Given the description of an element on the screen output the (x, y) to click on. 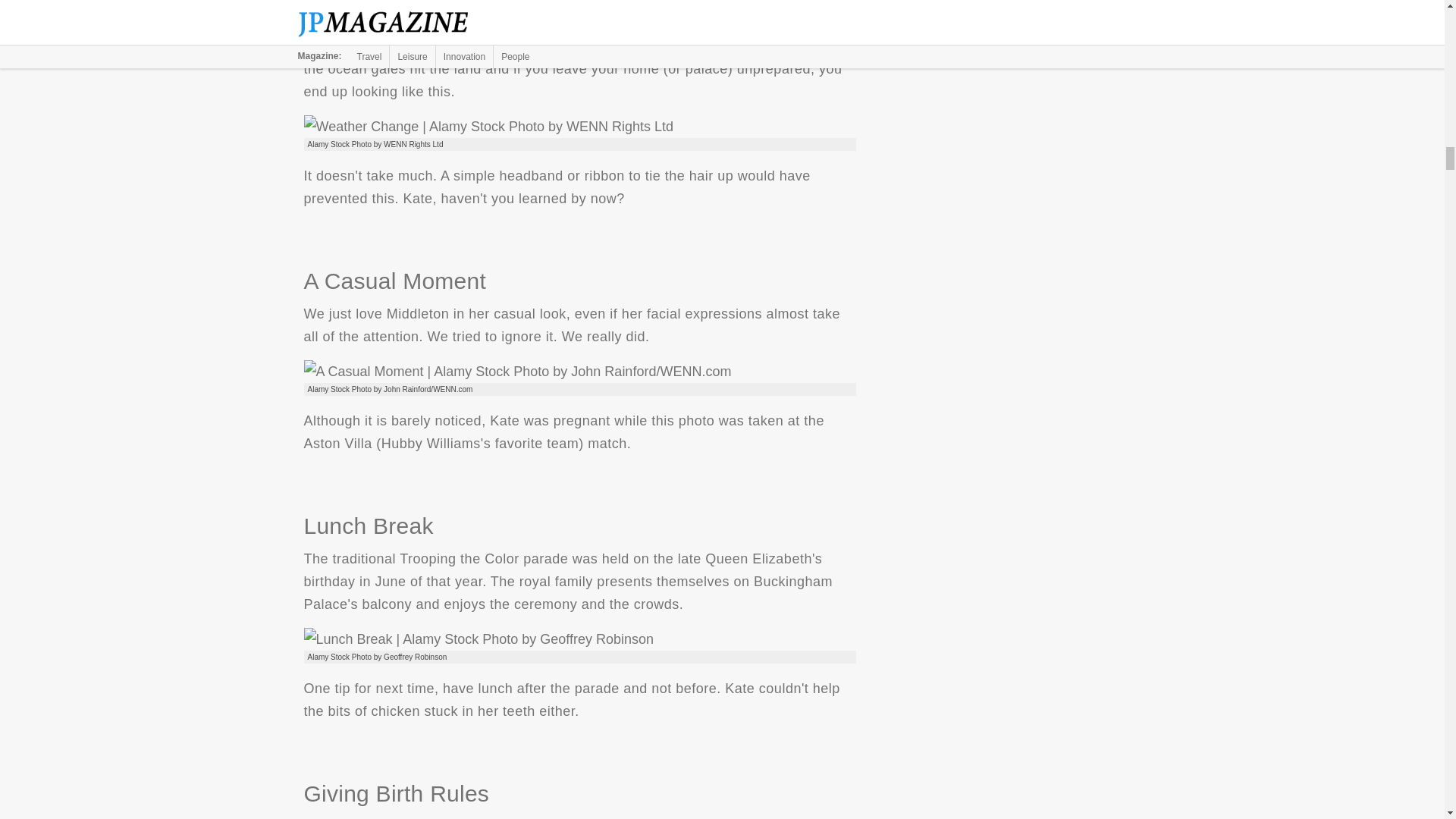
Lunch Break (477, 639)
Weather Change (487, 126)
A Casual Moment (516, 371)
